Given the description of an element on the screen output the (x, y) to click on. 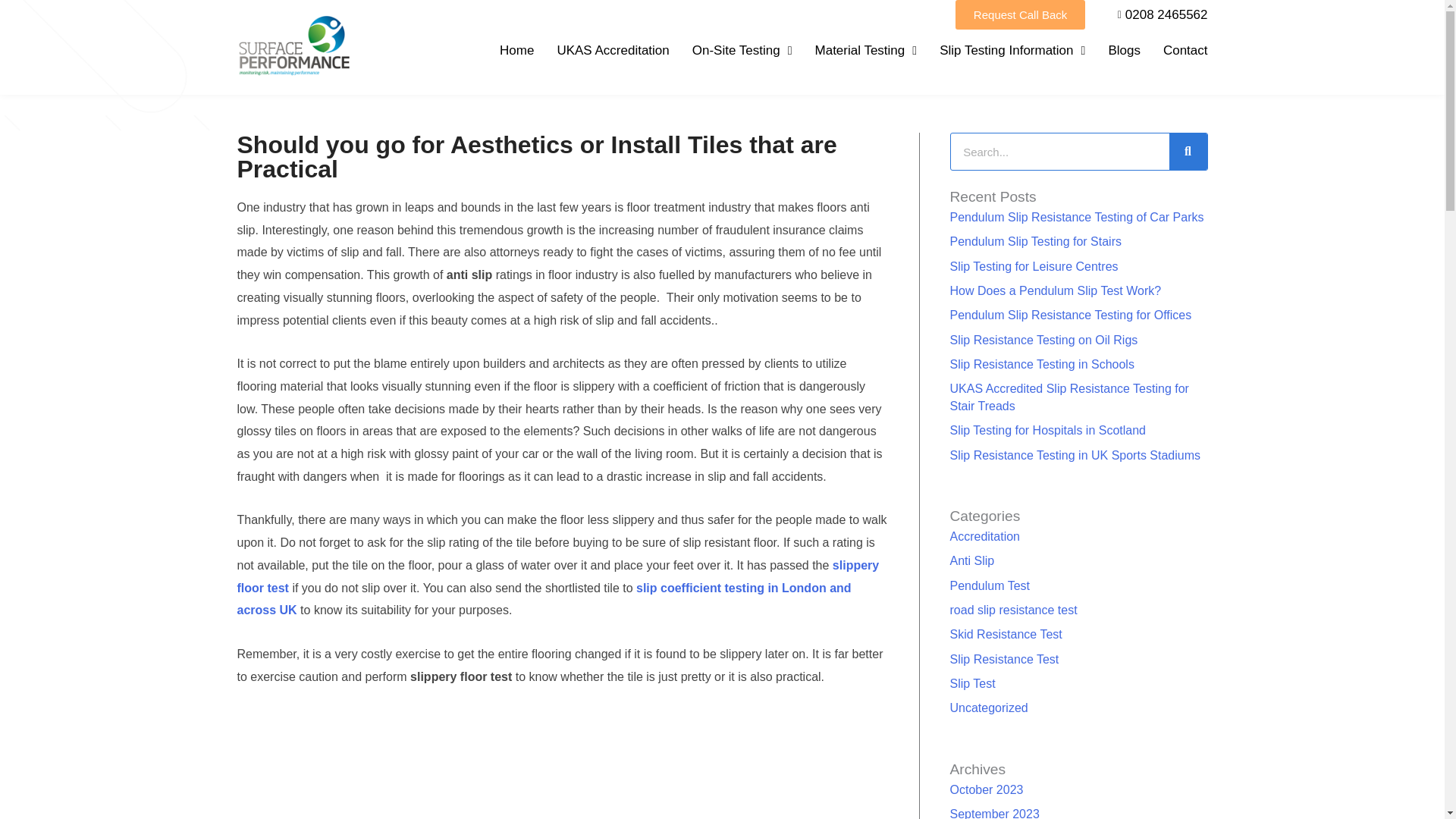
Home (516, 50)
0208 2465562 (1157, 15)
Search (1059, 151)
On-Site Testing (742, 50)
Material Testing (866, 50)
Slip Testing Information (1011, 50)
Blogs (1124, 50)
Contact (1185, 50)
Request Call Back (1019, 14)
Search (1188, 151)
UKAS Accreditation (612, 50)
